Given the description of an element on the screen output the (x, y) to click on. 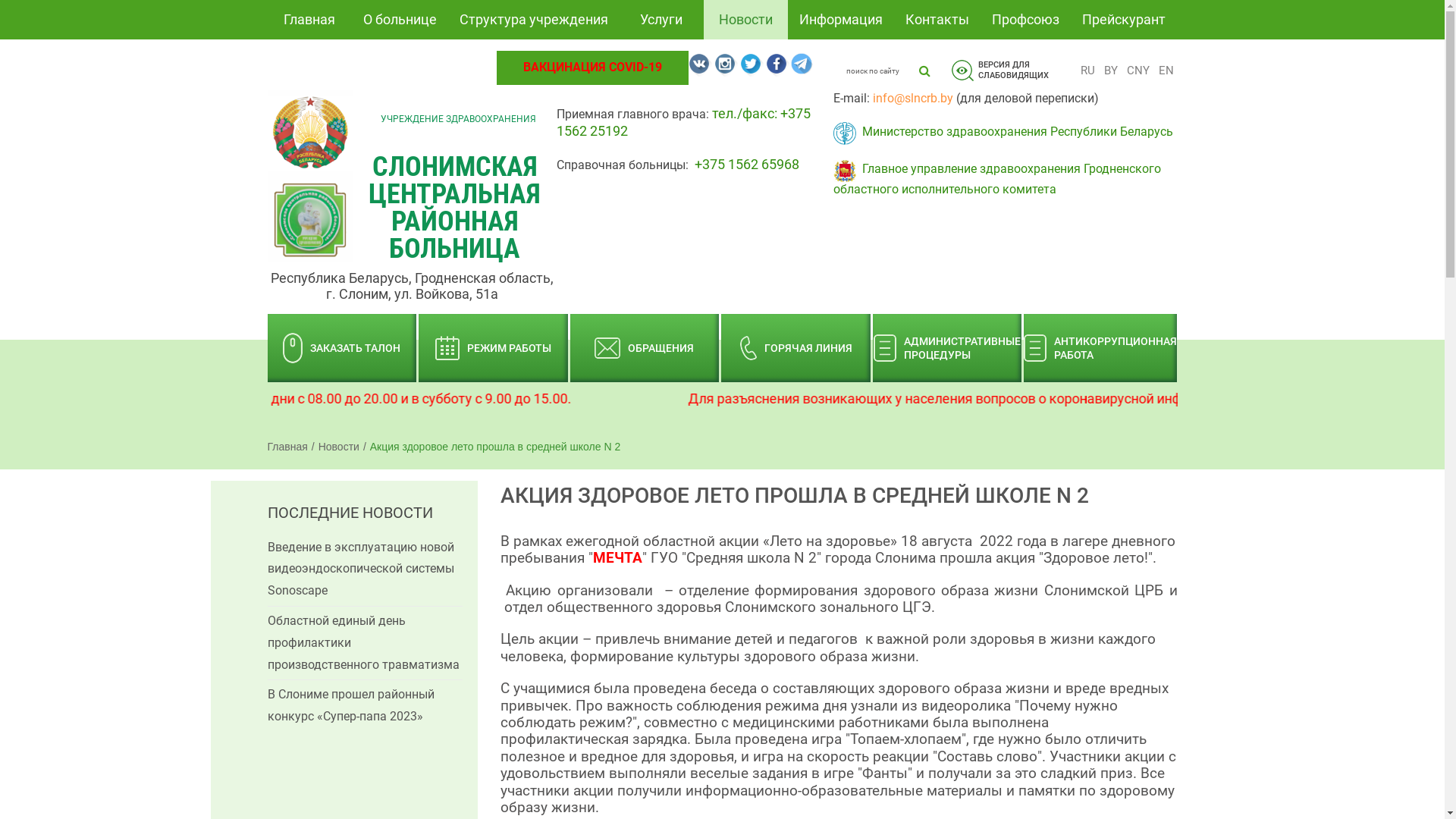
CNY Element type: text (1137, 70)
BY Element type: text (1109, 70)
+375 1562 65968 Element type: text (746, 164)
EN Element type: text (1165, 70)
info@slncrb.by Element type: text (912, 98)
RU Element type: text (1087, 70)
